Given the description of an element on the screen output the (x, y) to click on. 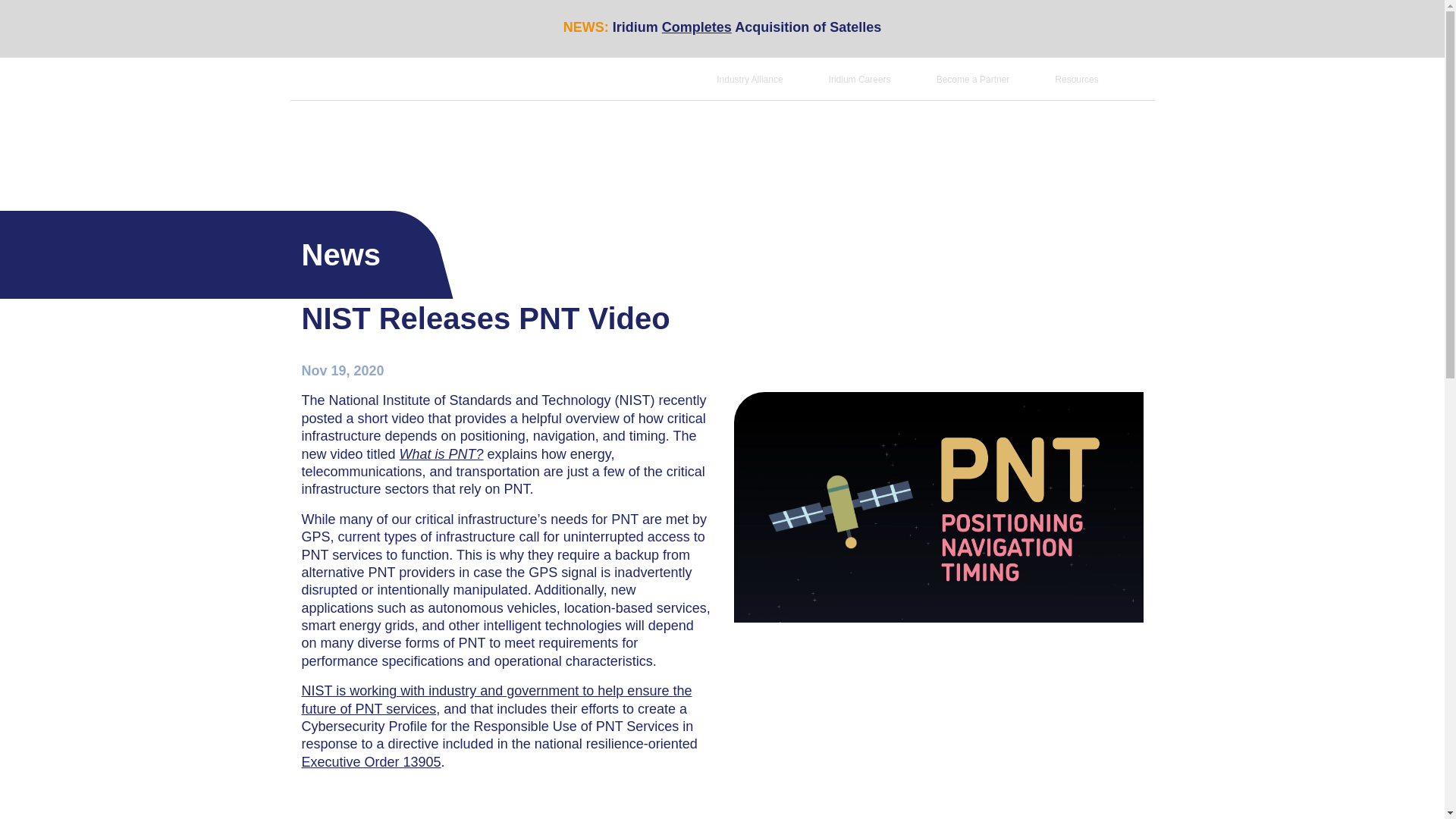
Resources (1075, 79)
Completes (697, 27)
Become a Partner (973, 79)
Iridium Careers (859, 79)
Timing Sync Applications (679, 138)
Government Drivers (812, 138)
Industry Alliance (749, 79)
Iridium STL Solutions (543, 138)
Satelles, Inc. (359, 134)
